Given the description of an element on the screen output the (x, y) to click on. 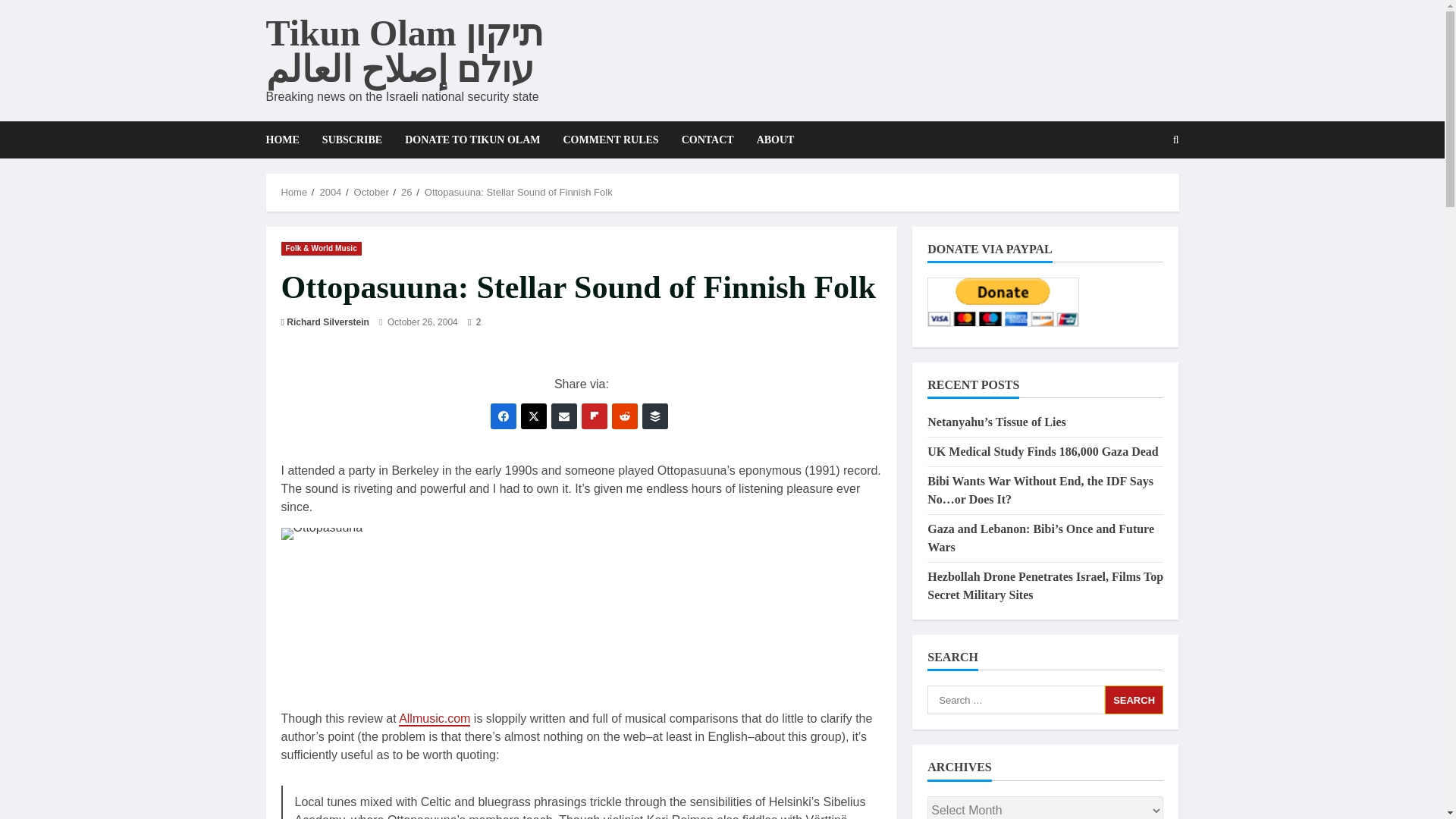
Home (294, 192)
Ottopasuuna: Stellar Sound of Finnish Folk (518, 192)
SUBSCRIBE (352, 139)
2004 (329, 192)
DONATE TO TIKUN OLAM (472, 139)
Allmusic.com (434, 718)
2 (473, 322)
CONTACT (707, 139)
'Ottopasuuna'--buy it (366, 612)
26 (406, 192)
